Given the description of an element on the screen output the (x, y) to click on. 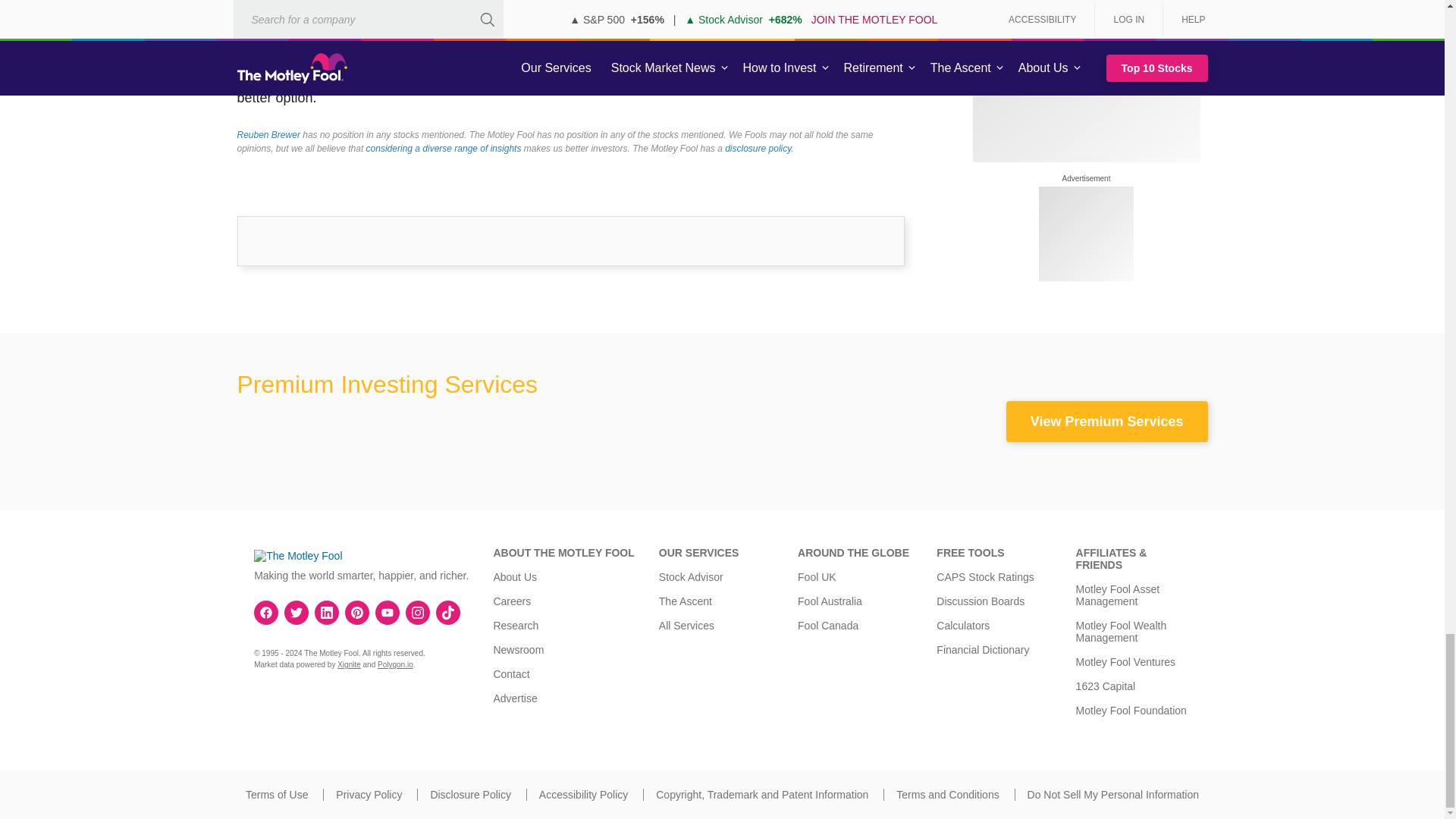
Accessibility Policy (582, 794)
Disclosure Policy (470, 794)
Copyright, Trademark and Patent Information (761, 794)
Terms and Conditions (947, 794)
Privacy Policy (368, 794)
Do Not Sell My Personal Information. (1112, 794)
Terms of Use (276, 794)
